Given the description of an element on the screen output the (x, y) to click on. 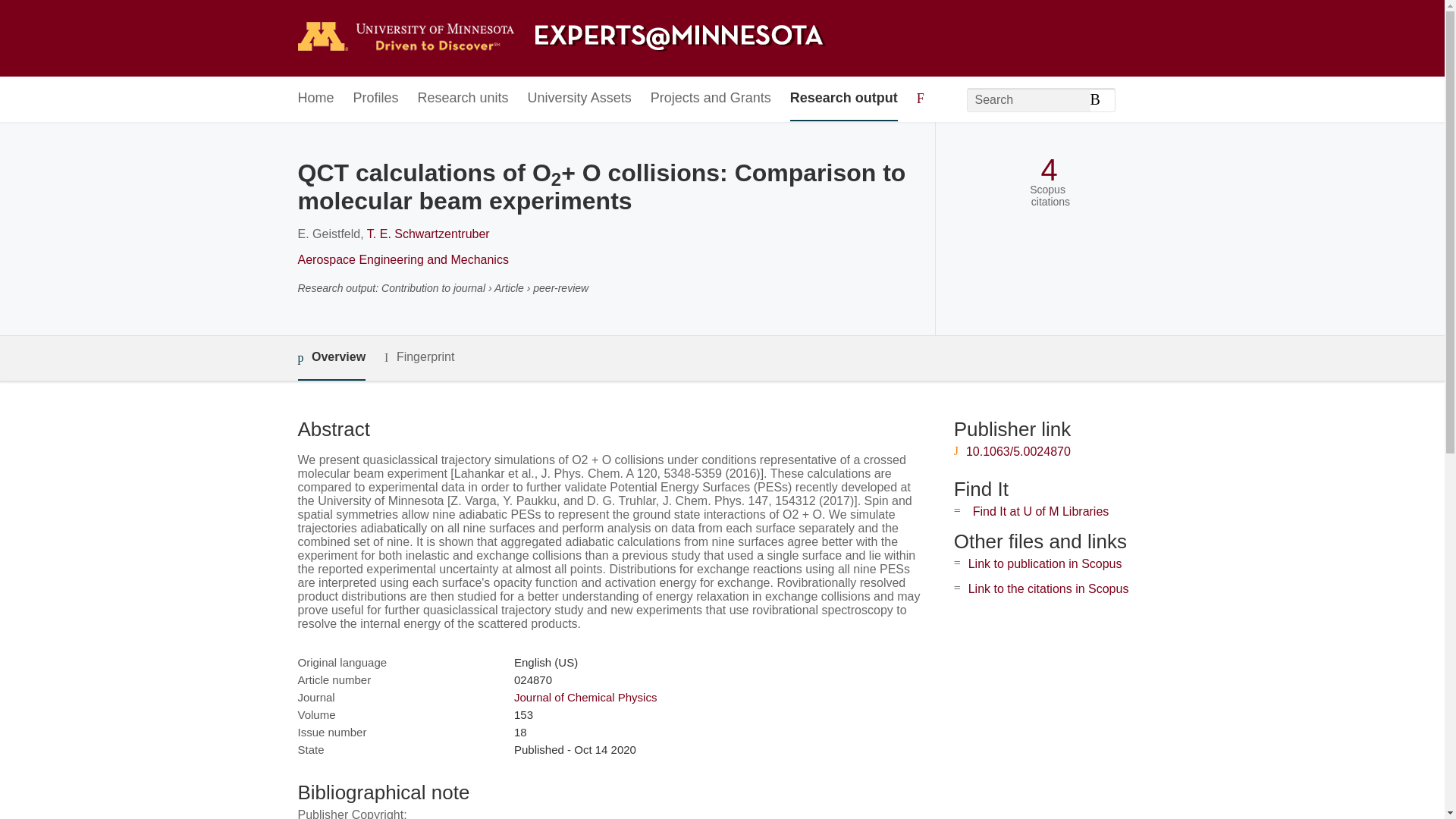
Research units (462, 98)
Fingerprint (419, 357)
University Assets (579, 98)
Link to the citations in Scopus (1048, 588)
Aerospace Engineering and Mechanics (402, 259)
Find It at U of M Libraries (1040, 511)
Projects and Grants (710, 98)
T. E. Schwartzentruber (427, 233)
Overview (331, 357)
